Given the description of an element on the screen output the (x, y) to click on. 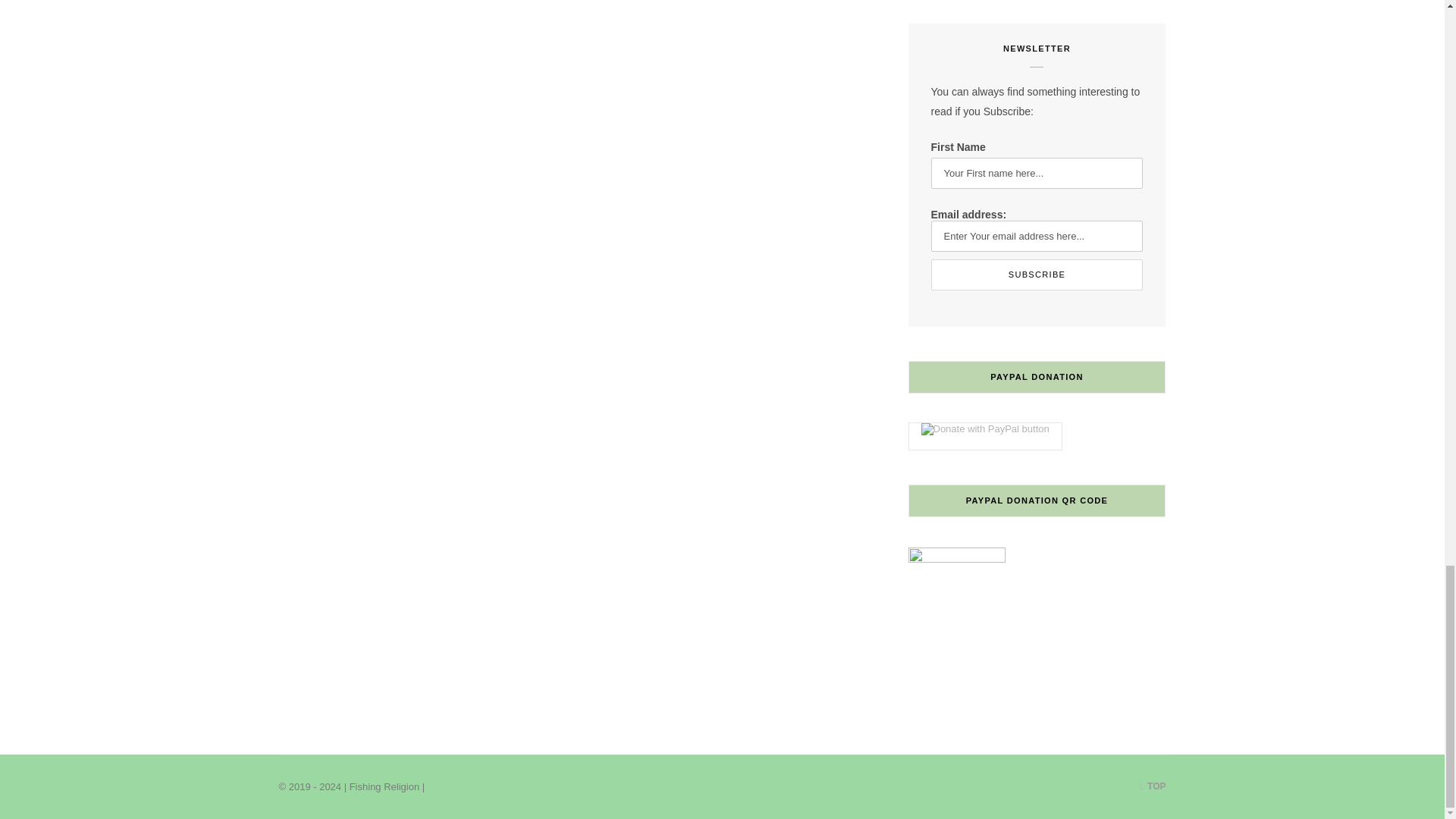
TOP (1153, 786)
Subscribe (1036, 274)
Subscribe (1036, 274)
Your First name here... (1036, 173)
